Given the description of an element on the screen output the (x, y) to click on. 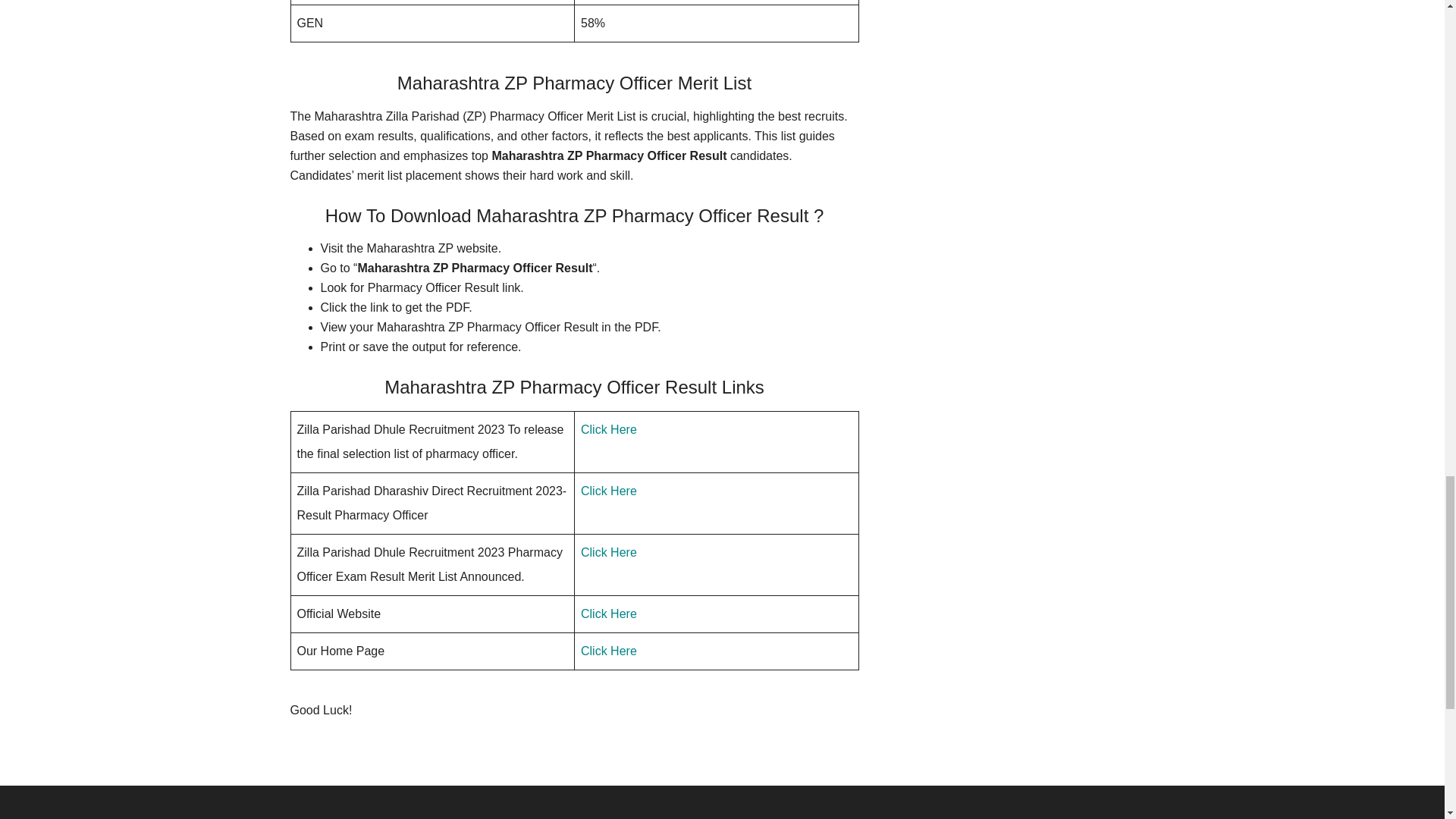
Click Here (608, 650)
Click Here (608, 429)
Click Here (608, 552)
Click Here (608, 490)
Click Here (608, 613)
